Given the description of an element on the screen output the (x, y) to click on. 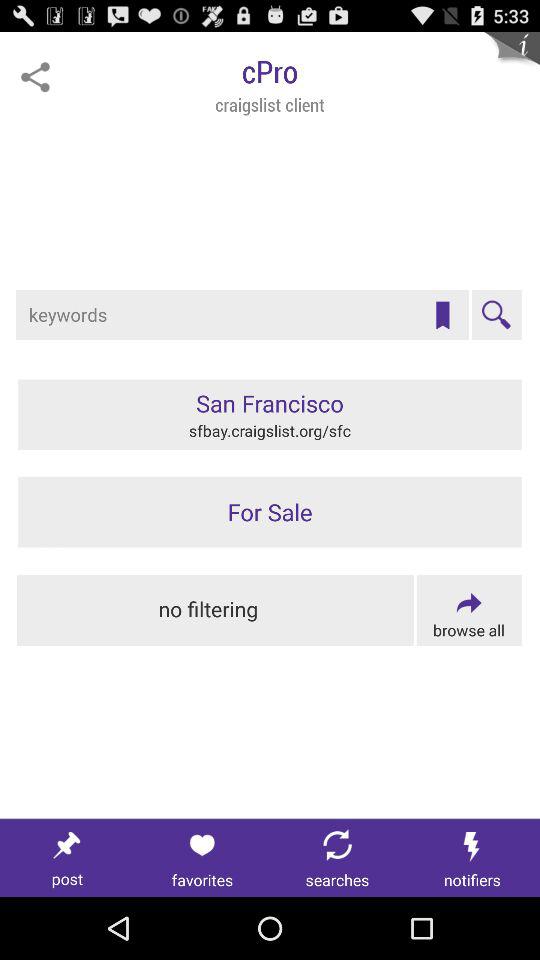
go to favorites (202, 858)
